Given the description of an element on the screen output the (x, y) to click on. 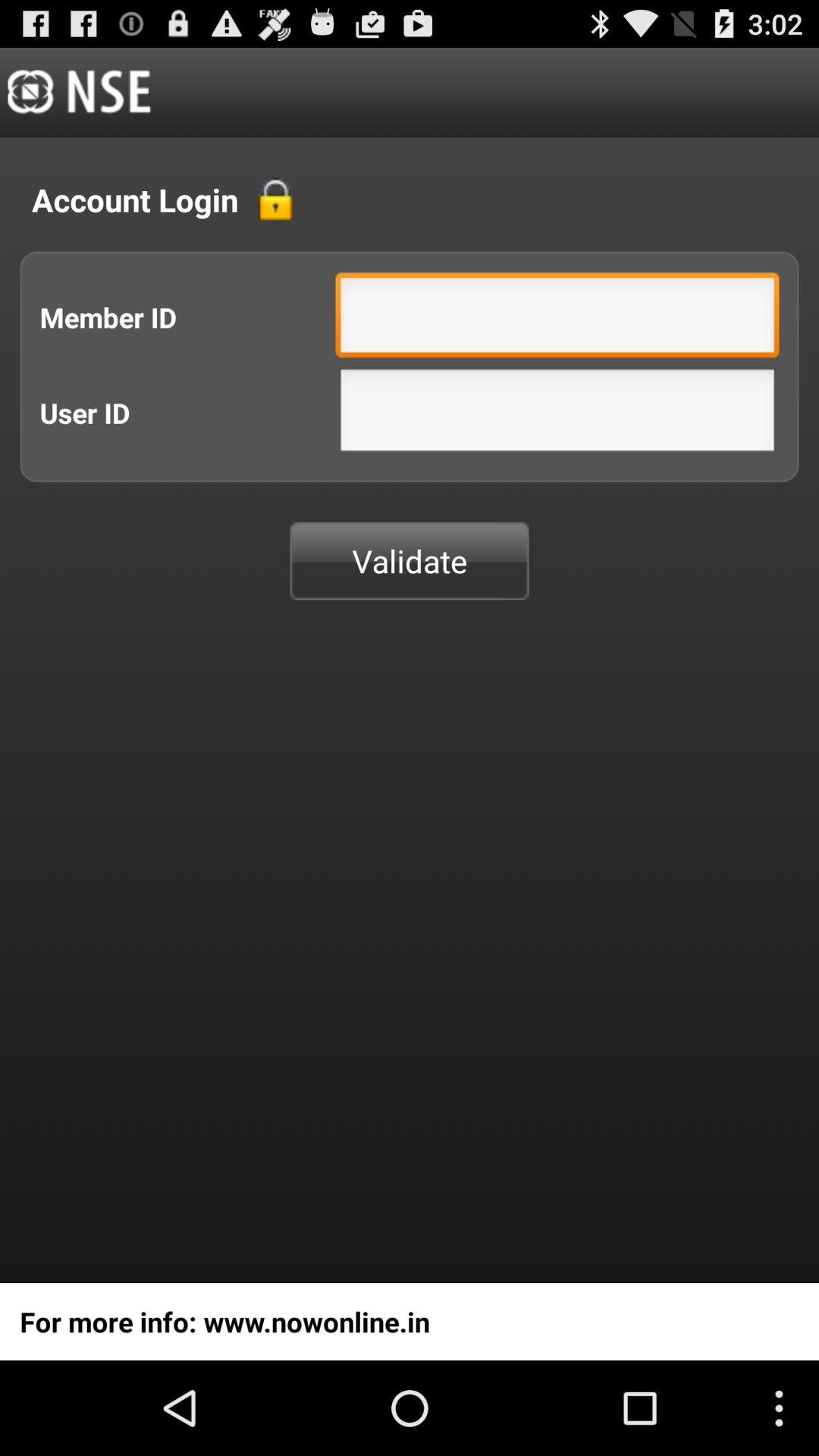
field where you enter your member id (557, 318)
